Given the description of an element on the screen output the (x, y) to click on. 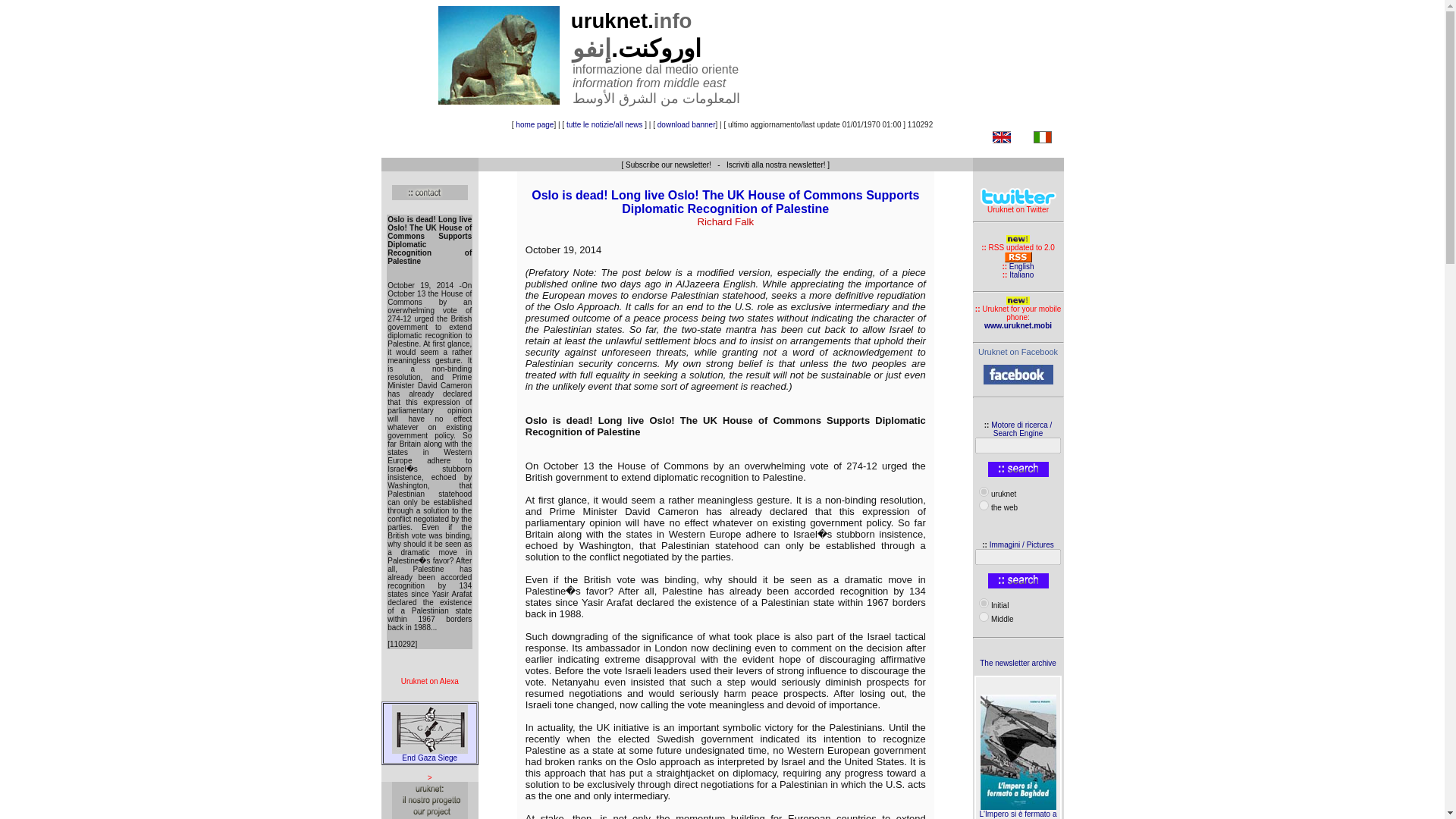
Uruknet on Alexa (429, 684)
End Gaza Siege (429, 754)
Uruknet on Facebook (1018, 351)
home page (534, 124)
The Lyon of Babylon (498, 54)
u (983, 491)
www.uruknet.mobi (1017, 325)
M (983, 616)
Uruknet on Twitter (1018, 206)
The newsletter archive (1018, 663)
Italiano (1021, 275)
g (983, 505)
UrukNet.info (1018, 351)
download banner (687, 124)
